Given the description of an element on the screen output the (x, y) to click on. 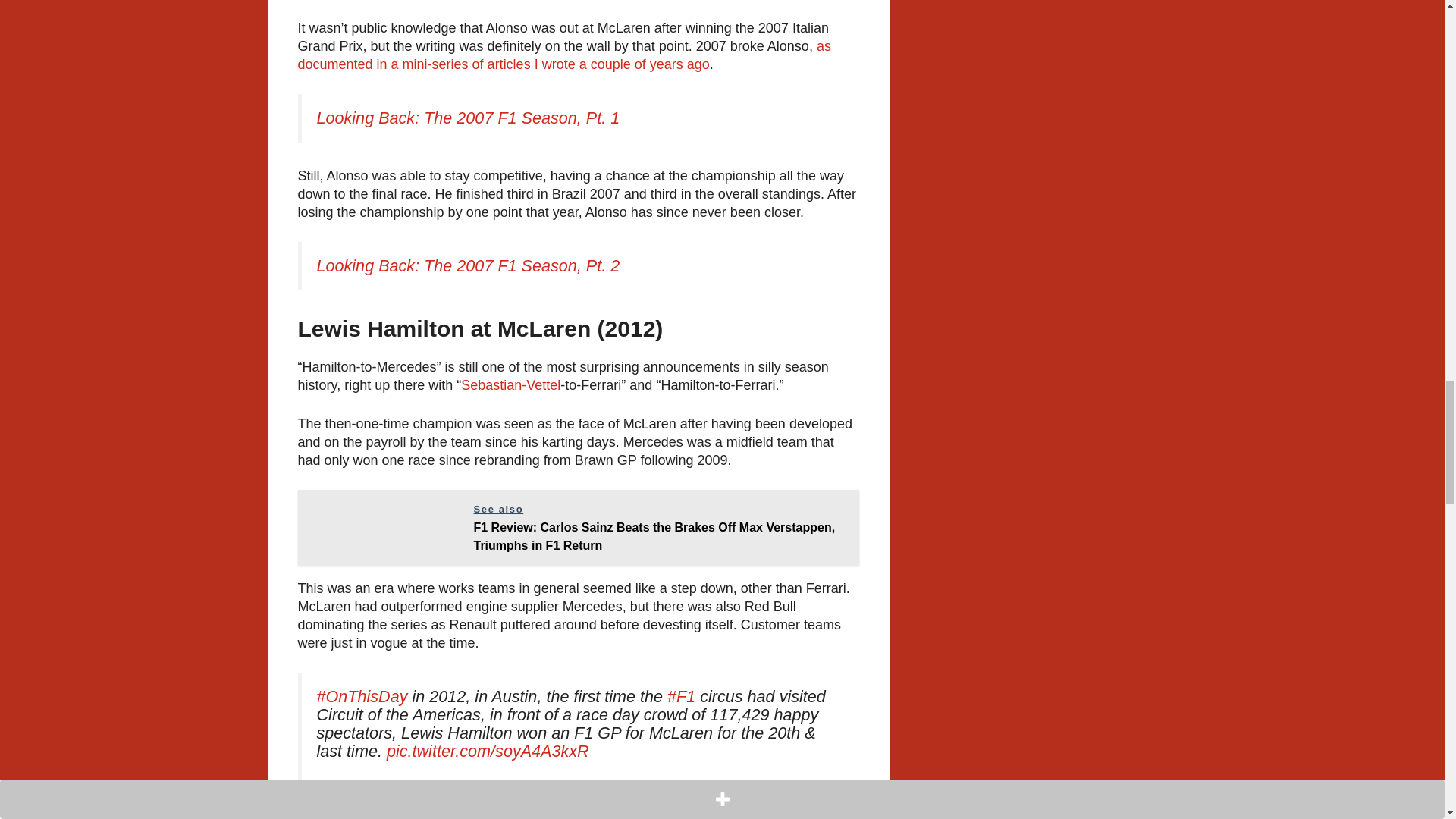
Sebastian-Vettel (510, 385)
Looking Back: The 2007 F1 Season, Pt. 2 (468, 265)
Looking Back: The 2007 F1 Season, Pt. 1 (468, 117)
